Given the description of an element on the screen output the (x, y) to click on. 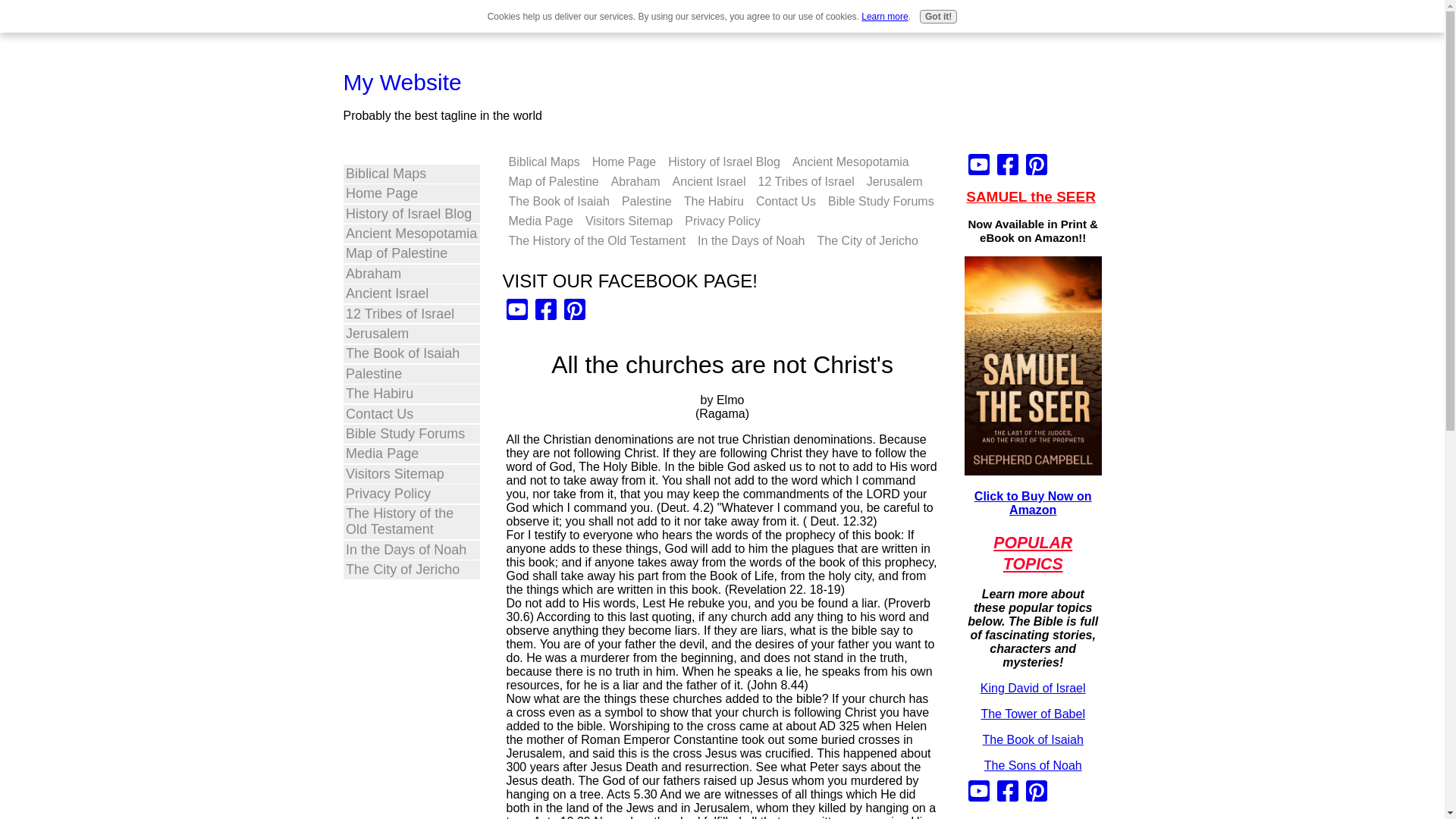
The Habiru (713, 201)
Home Page (624, 161)
Jerusalem (411, 333)
Bible Study Forums (411, 434)
The Book of Isaiah (558, 201)
Map of Palestine (553, 181)
Contact Us (411, 414)
The History of the Old Testament (596, 240)
Visitors Sitemap (628, 220)
Palestine (646, 201)
Biblical Maps (543, 161)
Ancient Israel (709, 181)
Ancient Israel (411, 293)
Abraham (411, 273)
12 Tribes of Israel (411, 313)
